Given the description of an element on the screen output the (x, y) to click on. 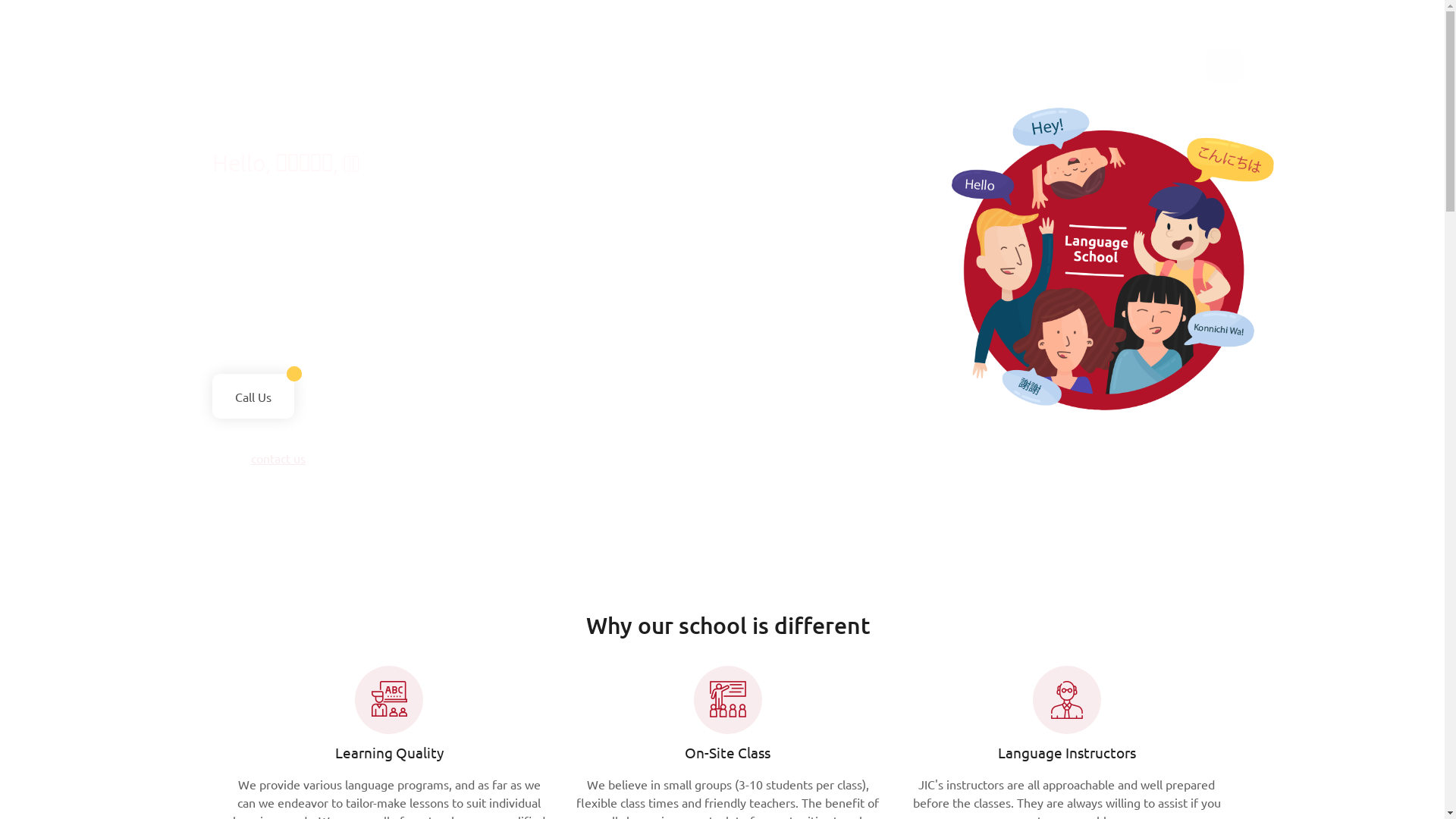
Call Us Element type: text (253, 395)
Sign Up Element type: text (369, 61)
contact us Element type: text (278, 457)
Fees Element type: text (586, 61)
JIC Language School Element type: hover (250, 51)
Teachers Element type: text (922, 61)
JIC Language School on Instagram Element type: hover (1232, 64)
JIC Language School on Email Element type: hover (1224, 64)
Corporate Element type: text (518, 61)
Contact Element type: text (994, 61)
JIC Language School on Facebook Element type: hover (1216, 64)
Courses Element type: text (442, 61)
Enrol Element type: text (710, 61)
Level Check Element type: text (782, 61)
Booking Element type: text (648, 61)
News Element type: text (855, 61)
JIC Language School Element type: hover (250, 53)
